Given the description of an element on the screen output the (x, y) to click on. 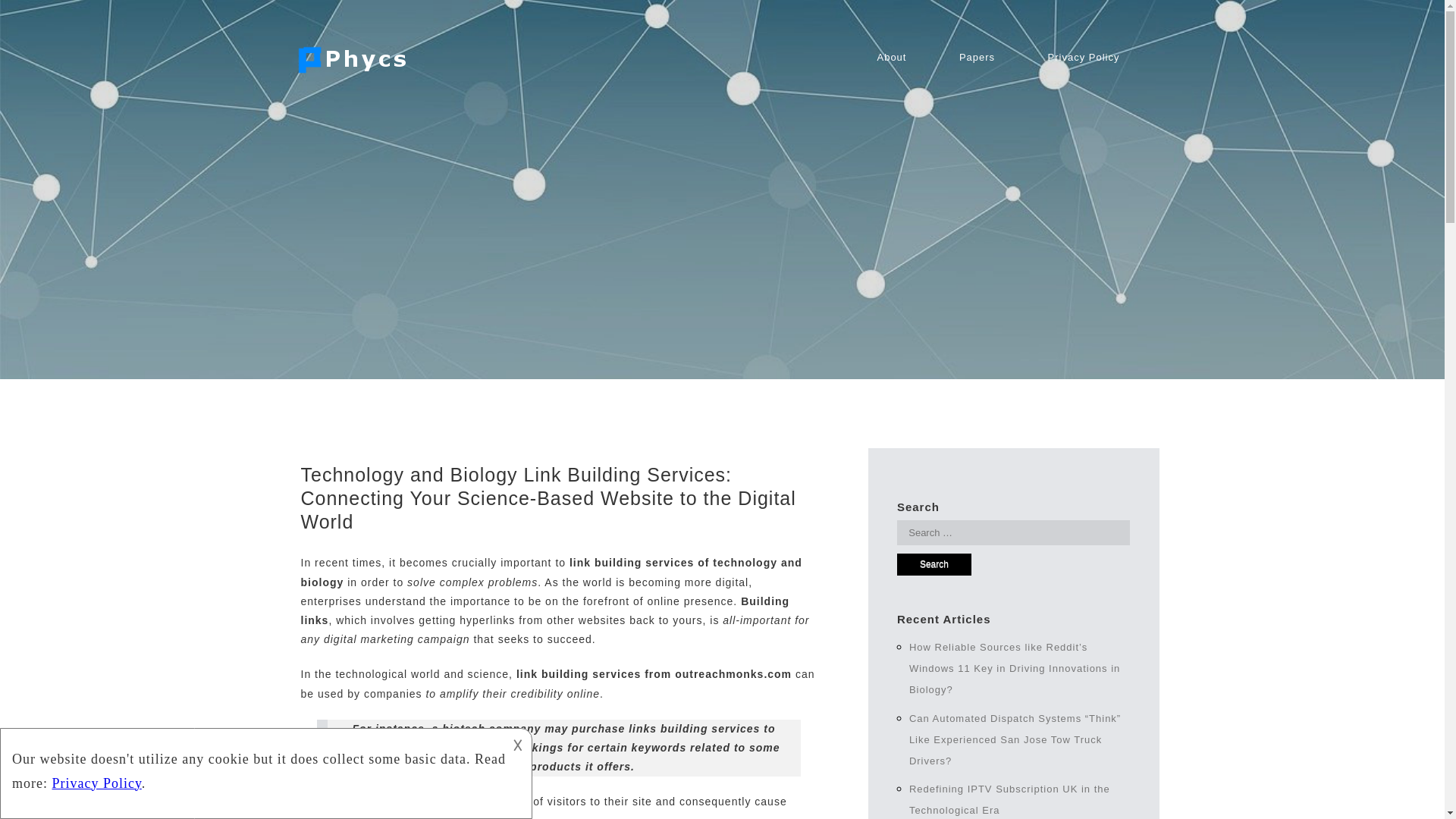
Redefining IPTV Subscription UK in the Technological Era (1008, 798)
Search (933, 564)
Search for: (1012, 532)
Privacy Policy (1083, 57)
description (264, 770)
Search (933, 564)
Search (933, 564)
About (890, 57)
Papers (976, 57)
